Given the description of an element on the screen output the (x, y) to click on. 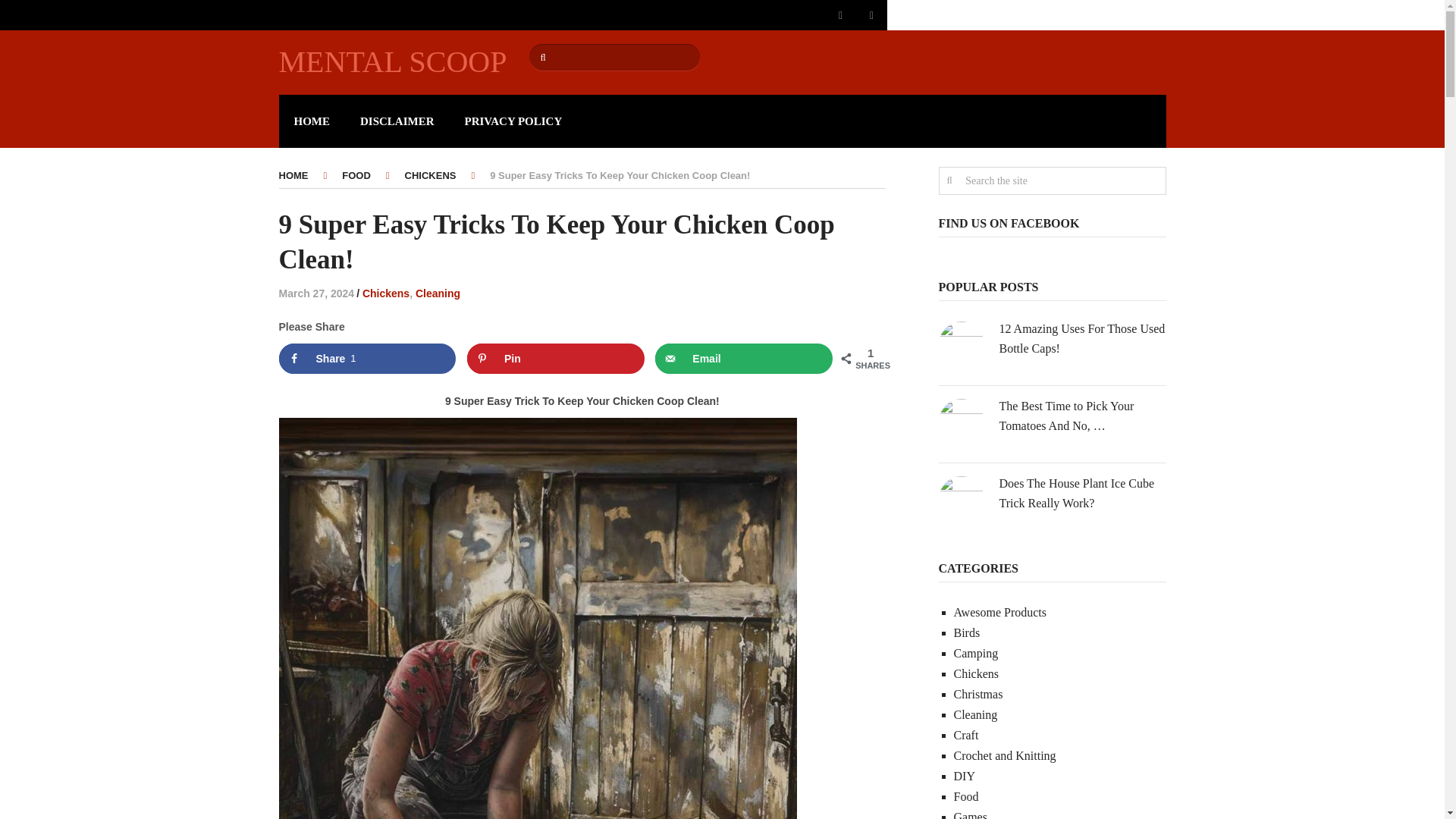
Send over email (743, 358)
MENTAL SCOOP (392, 61)
Save to Pinterest (556, 358)
Chickens (385, 293)
HOME (293, 174)
PRIVACY POLICY (513, 121)
CHICKENS (430, 174)
HOME (312, 121)
DISCLAIMER (397, 121)
Email (743, 358)
View all posts in Chickens (385, 293)
Pin (556, 358)
Share on Facebook (368, 358)
FOOD (356, 174)
View all posts in Cleaning (437, 293)
